Given the description of an element on the screen output the (x, y) to click on. 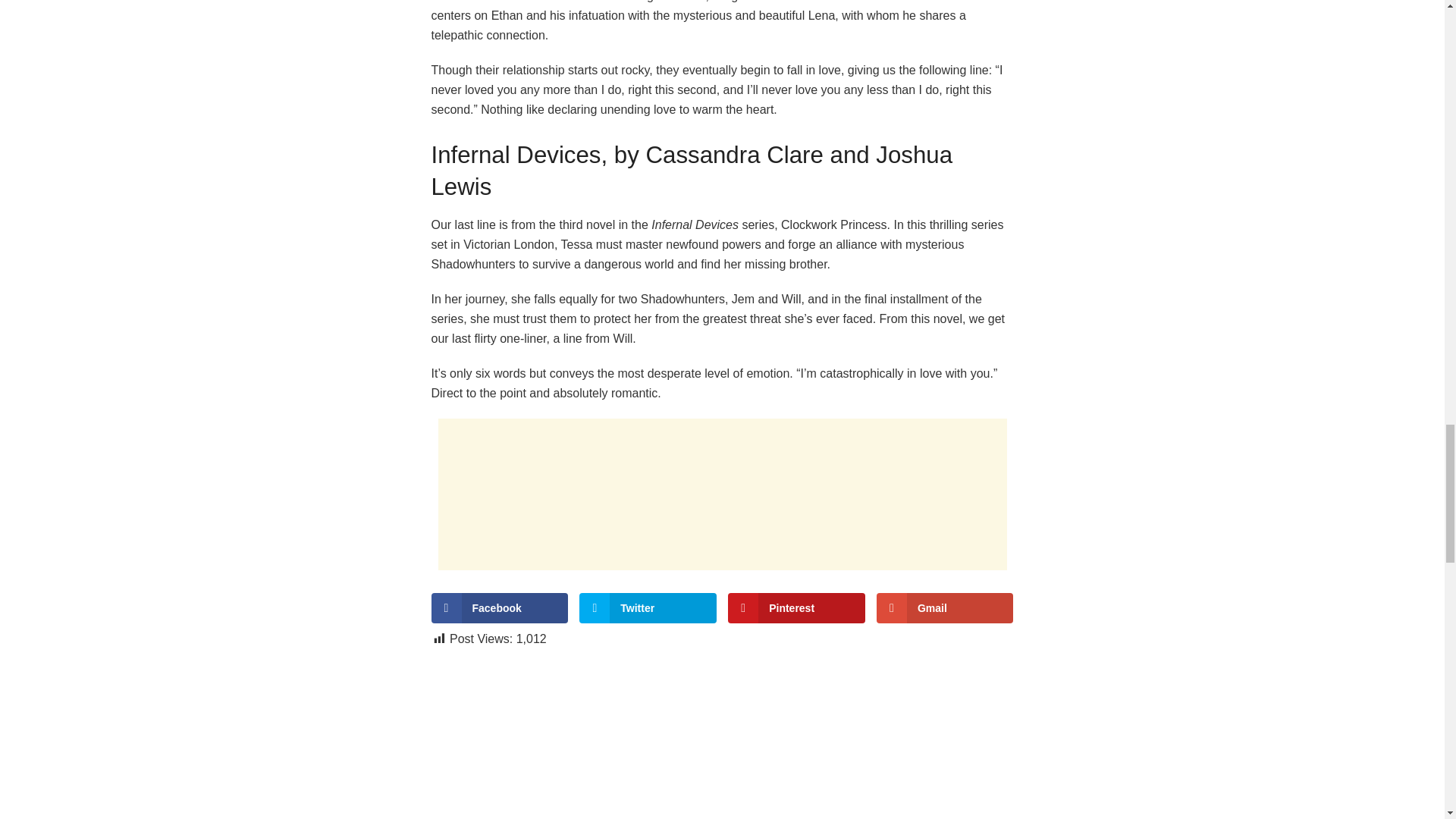
Gmail (944, 607)
Twitter (647, 607)
Facebook (498, 607)
Pinterest (796, 607)
